Given the description of an element on the screen output the (x, y) to click on. 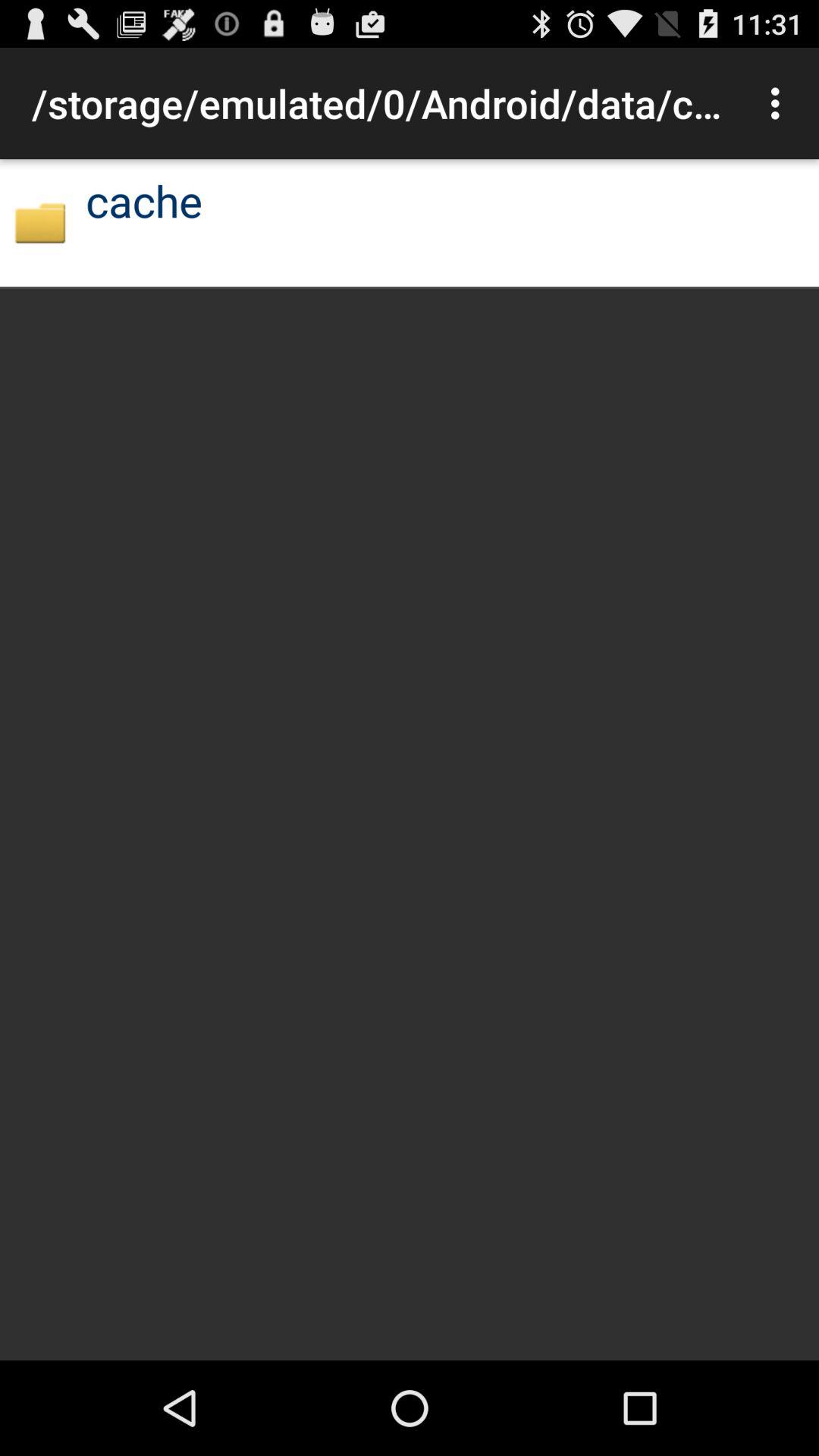
tap cache icon (143, 200)
